Given the description of an element on the screen output the (x, y) to click on. 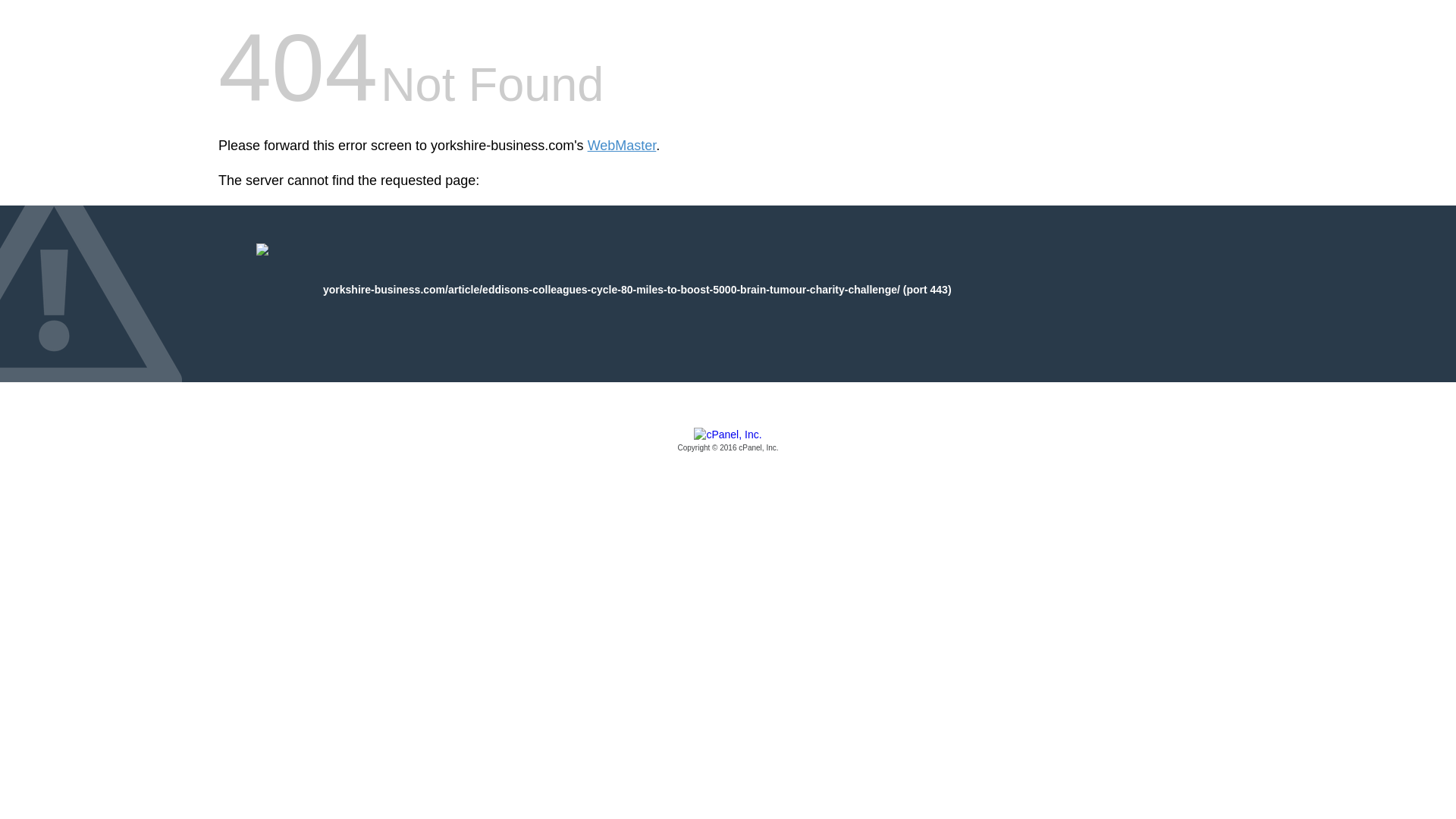
WebMaster (622, 145)
cPanel, Inc. (727, 440)
